Given the description of an element on the screen output the (x, y) to click on. 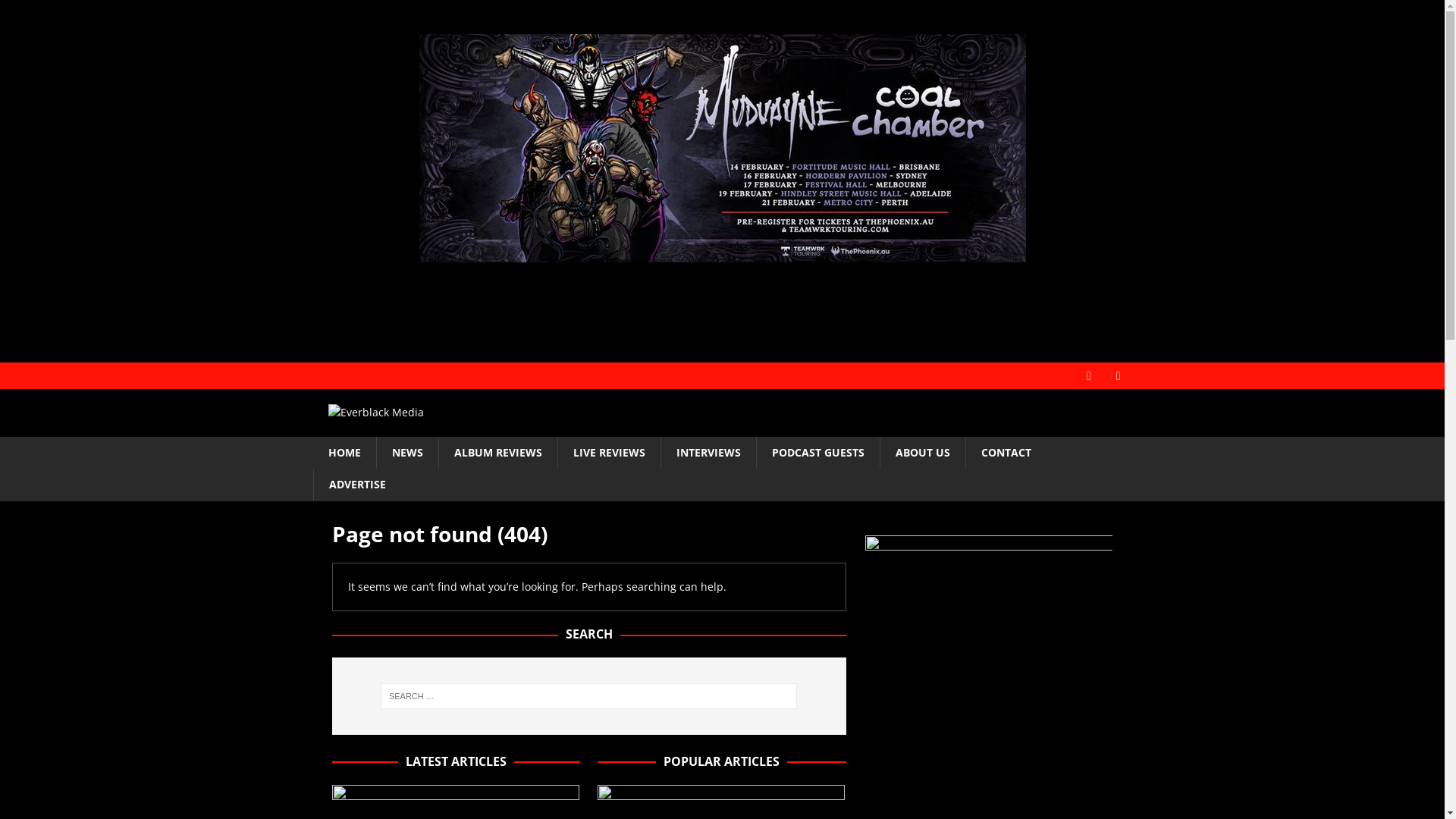
INTERVIEWS Element type: text (707, 452)
ALBUM REVIEWS Element type: text (497, 452)
ABOUT US Element type: text (922, 452)
Search Element type: text (56, 11)
NEWS Element type: text (407, 452)
HOME Element type: text (343, 452)
CONTACT Element type: text (1004, 452)
PODCAST GUESTS Element type: text (816, 452)
ADVERTISE Element type: text (356, 484)
LIVE REVIEWS Element type: text (607, 452)
